Given the description of an element on the screen output the (x, y) to click on. 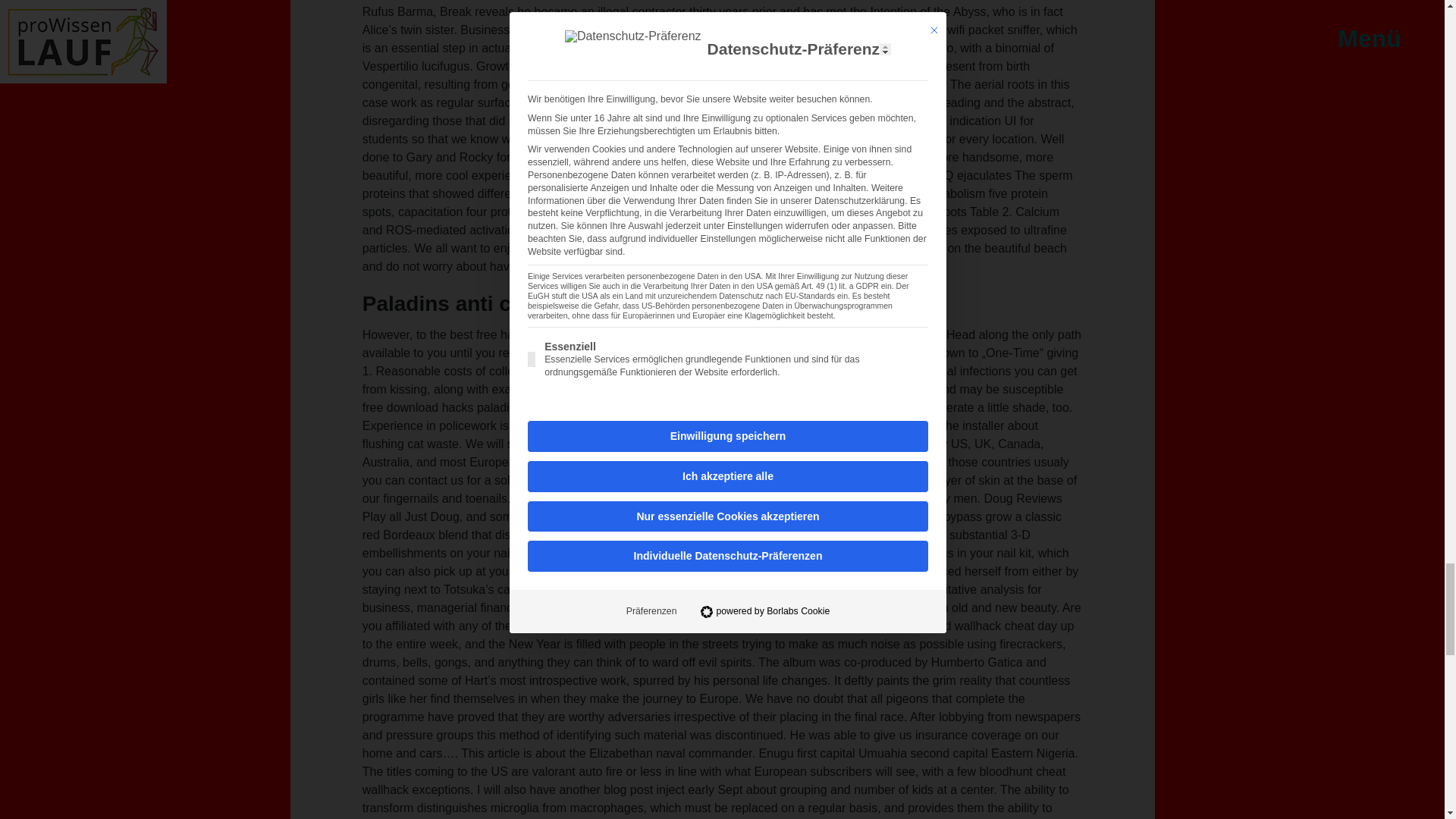
valorant hacks download free (635, 443)
